Given the description of an element on the screen output the (x, y) to click on. 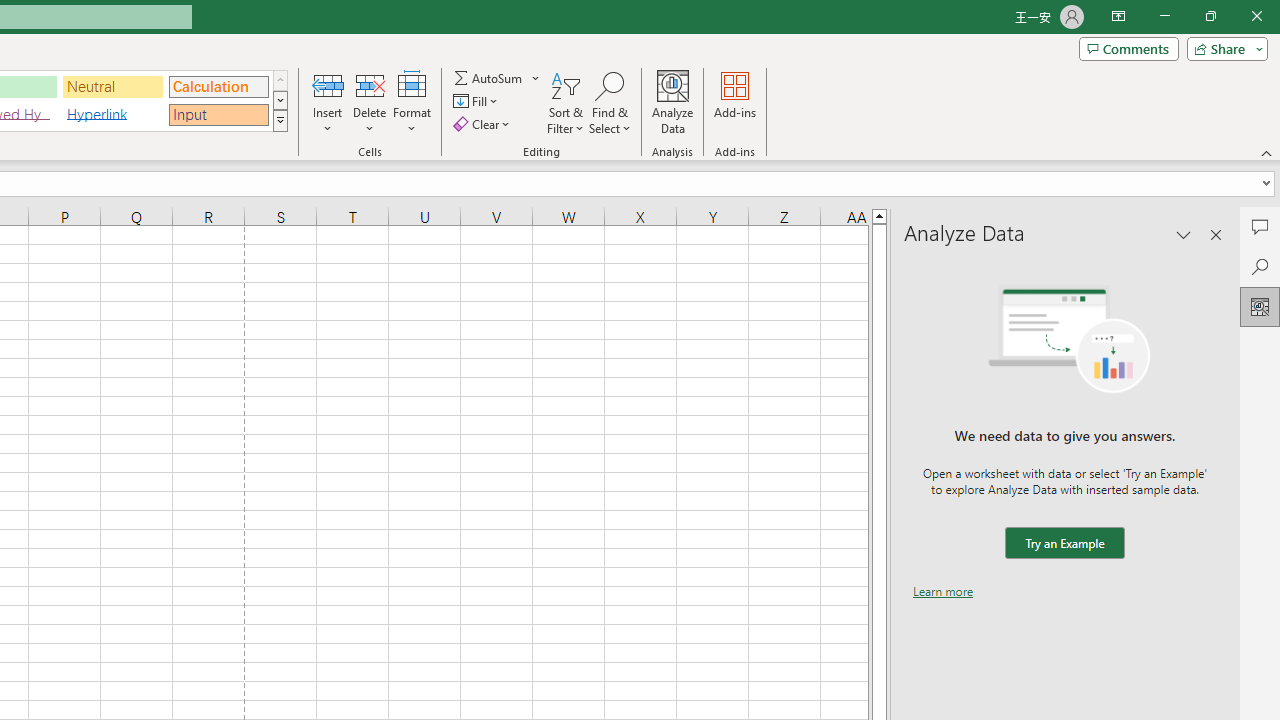
Format (411, 102)
Analyze Data (673, 102)
Hyperlink (113, 114)
Sort & Filter (566, 102)
Insert Cells (328, 84)
Fill (477, 101)
Calculation (218, 86)
Find & Select (610, 102)
Delete (369, 102)
